Given the description of an element on the screen output the (x, y) to click on. 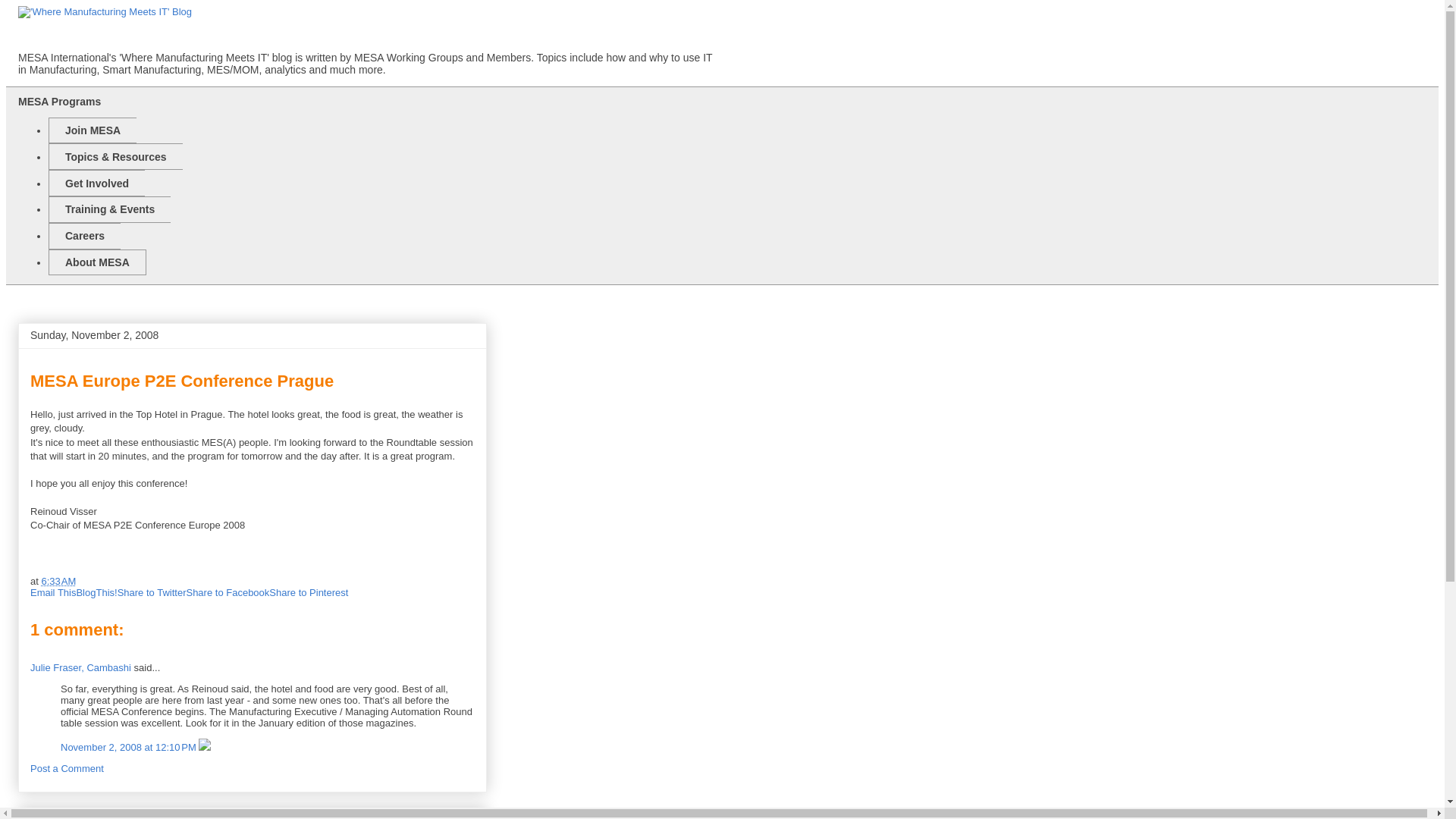
Delete Comment (204, 747)
Careers (84, 235)
Share to Pinterest (308, 592)
Email This (52, 592)
Share to Pinterest (308, 592)
Share to Twitter (151, 592)
BlogThis! (95, 592)
Julie Fraser, Cambashi (80, 667)
Email Post (85, 581)
